Given the description of an element on the screen output the (x, y) to click on. 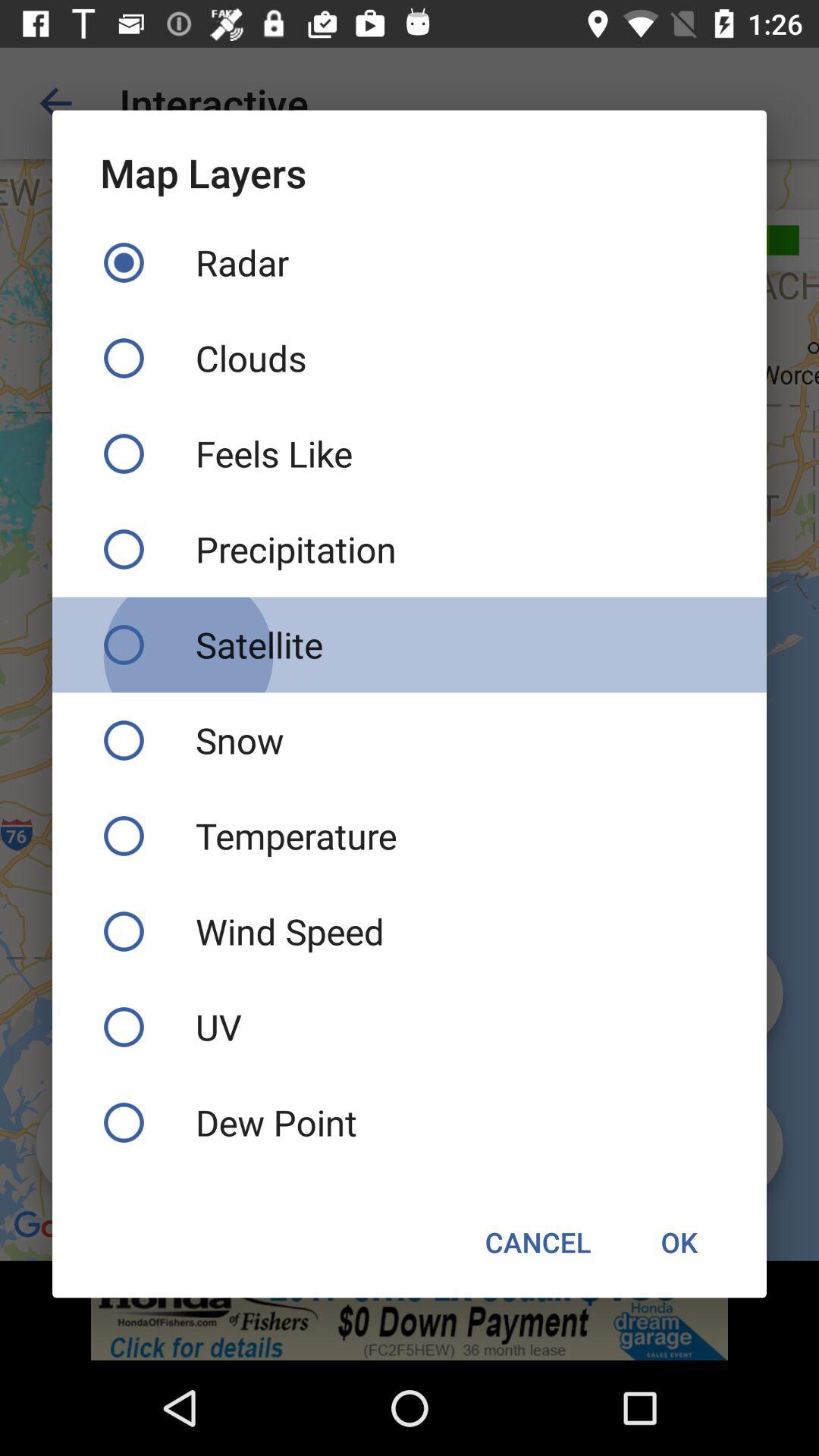
click the item to the right of cancel icon (678, 1241)
